Given the description of an element on the screen output the (x, y) to click on. 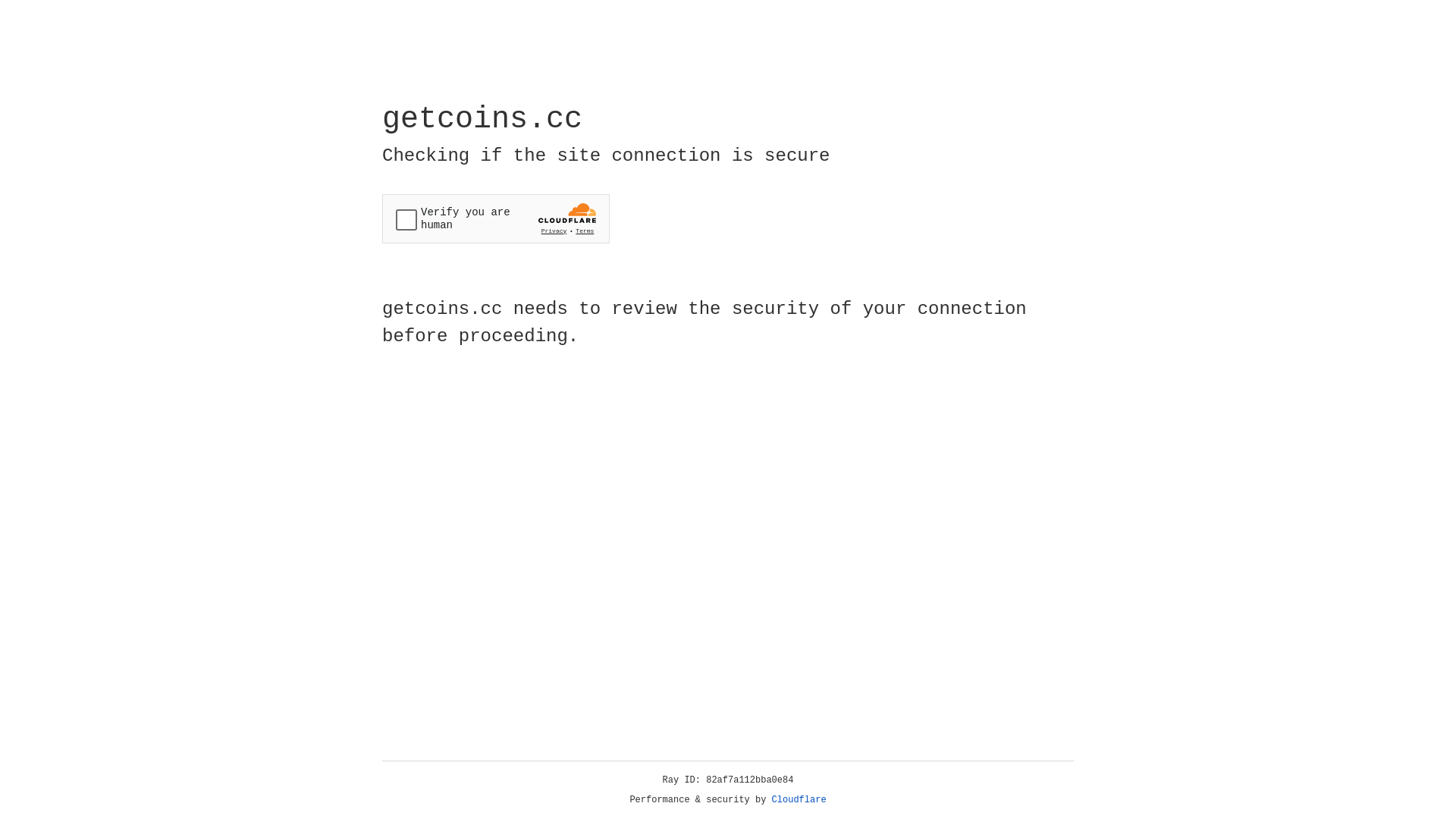
Widget containing a Cloudflare security challenge Element type: hover (495, 218)
Cloudflare Element type: text (798, 799)
